Given the description of an element on the screen output the (x, y) to click on. 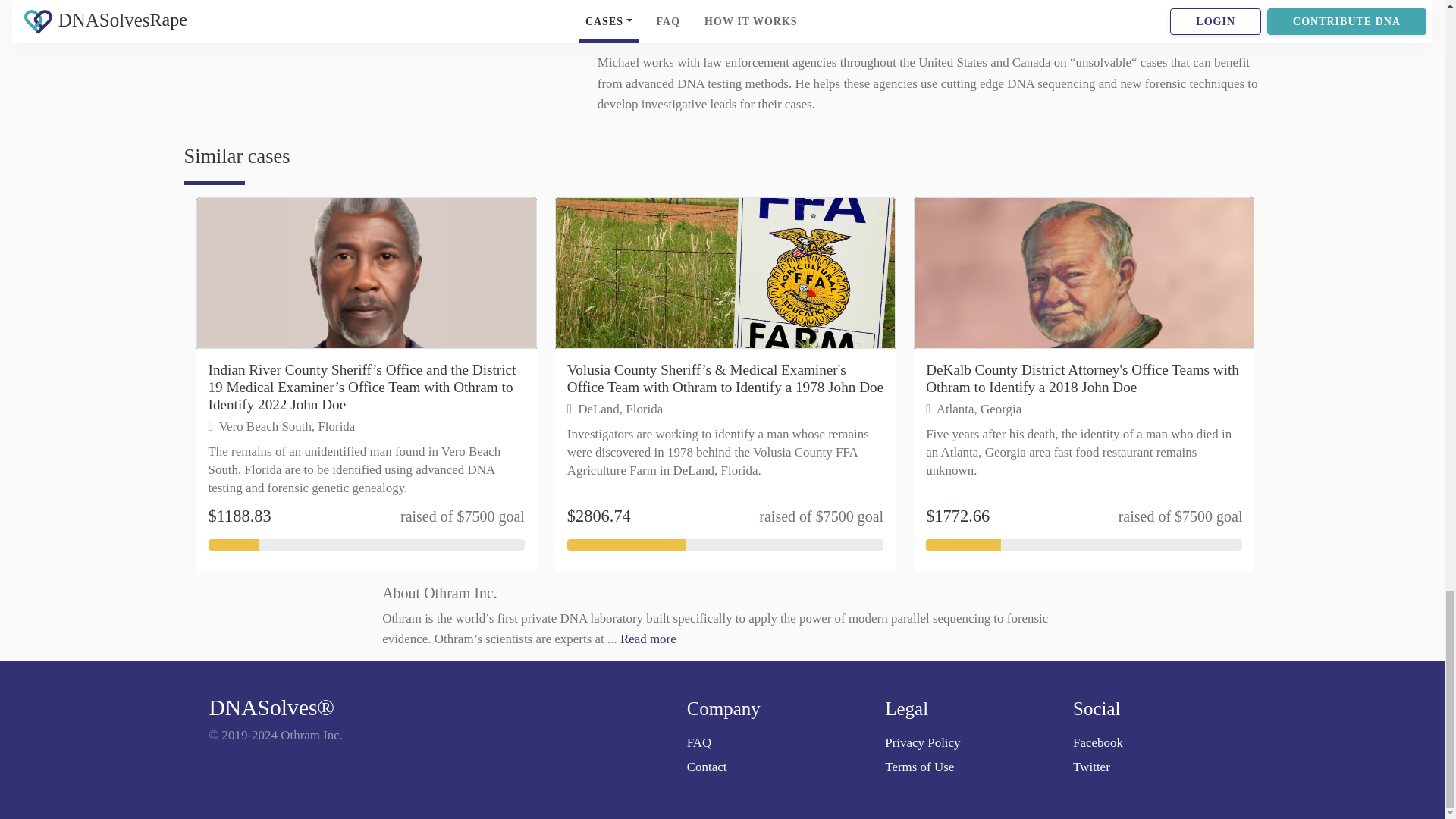
Contact (780, 766)
DeLand, Florida (614, 408)
Vero Beach South, Florida (281, 426)
Atlanta, Georgia (974, 408)
Read more (648, 638)
FAQ (780, 742)
